Given the description of an element on the screen output the (x, y) to click on. 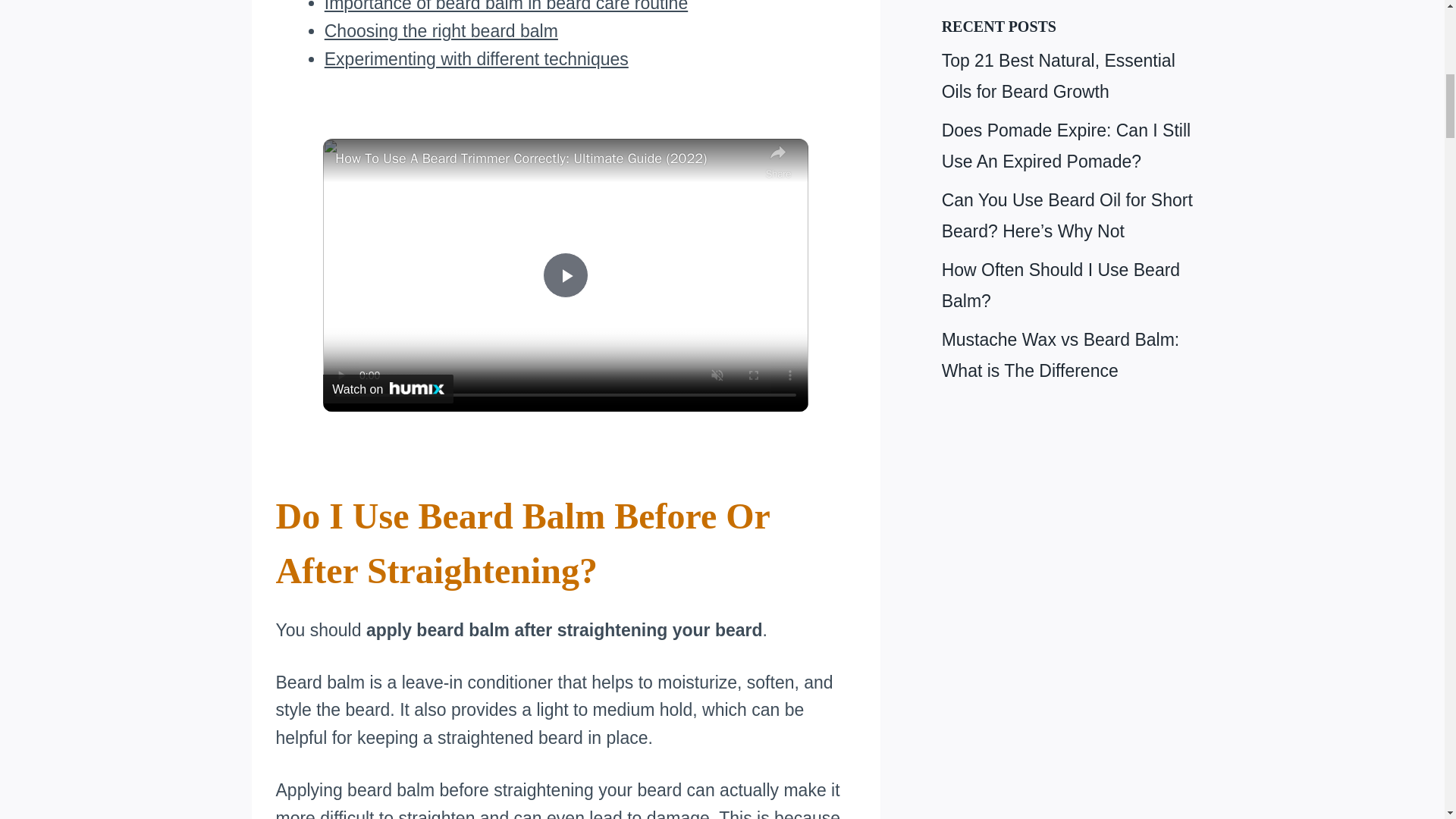
Choosing the right beard balm (440, 30)
Importance of beard balm in beard care routine (505, 6)
Play Video (565, 275)
Experimenting with different techniques (476, 58)
Play Video (565, 275)
